Given the description of an element on the screen output the (x, y) to click on. 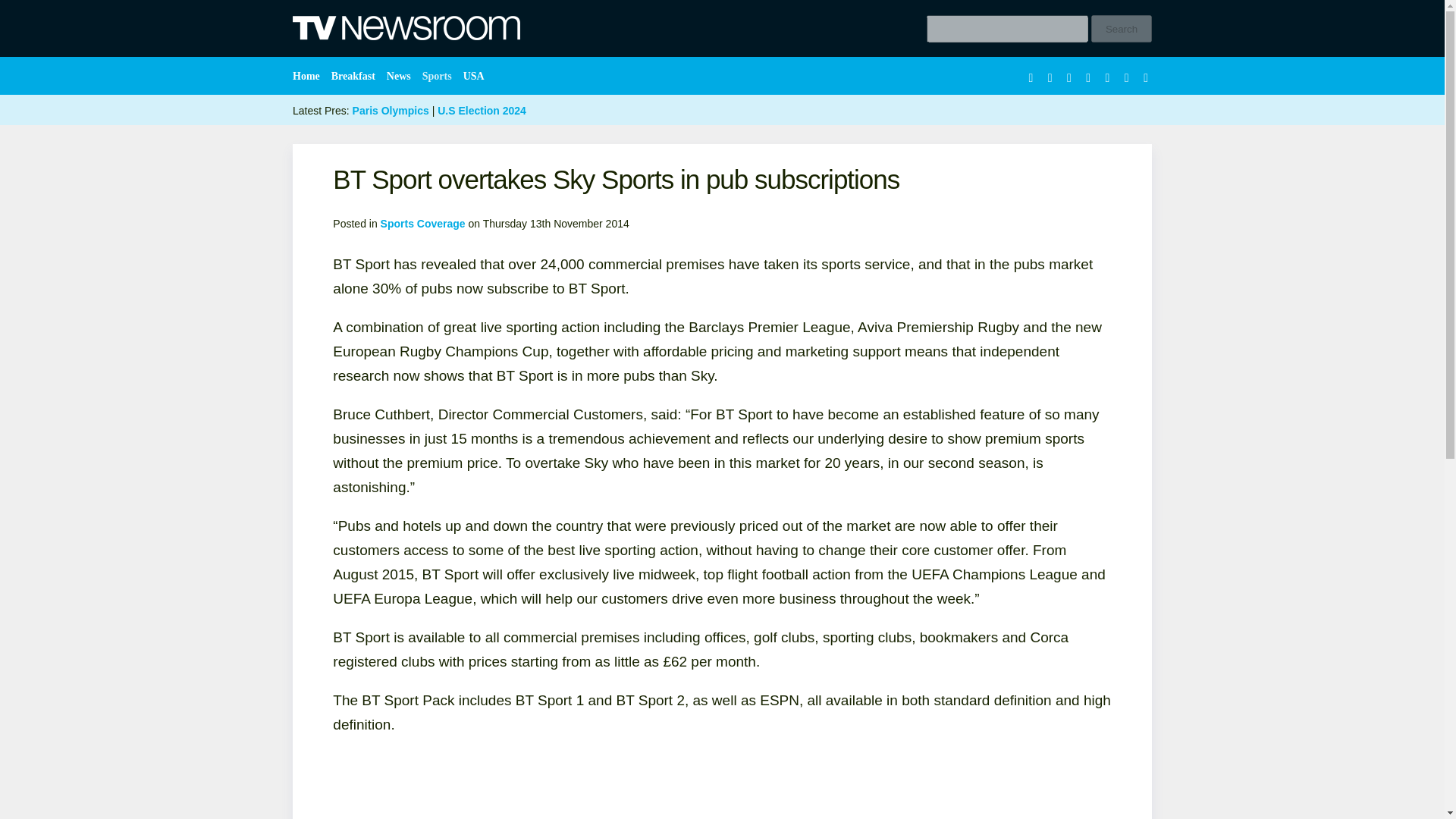
USA (477, 76)
Sports (441, 76)
Breakfast (356, 76)
Home (309, 76)
News (403, 76)
Search (1120, 28)
Search (1120, 28)
